Given the description of an element on the screen output the (x, y) to click on. 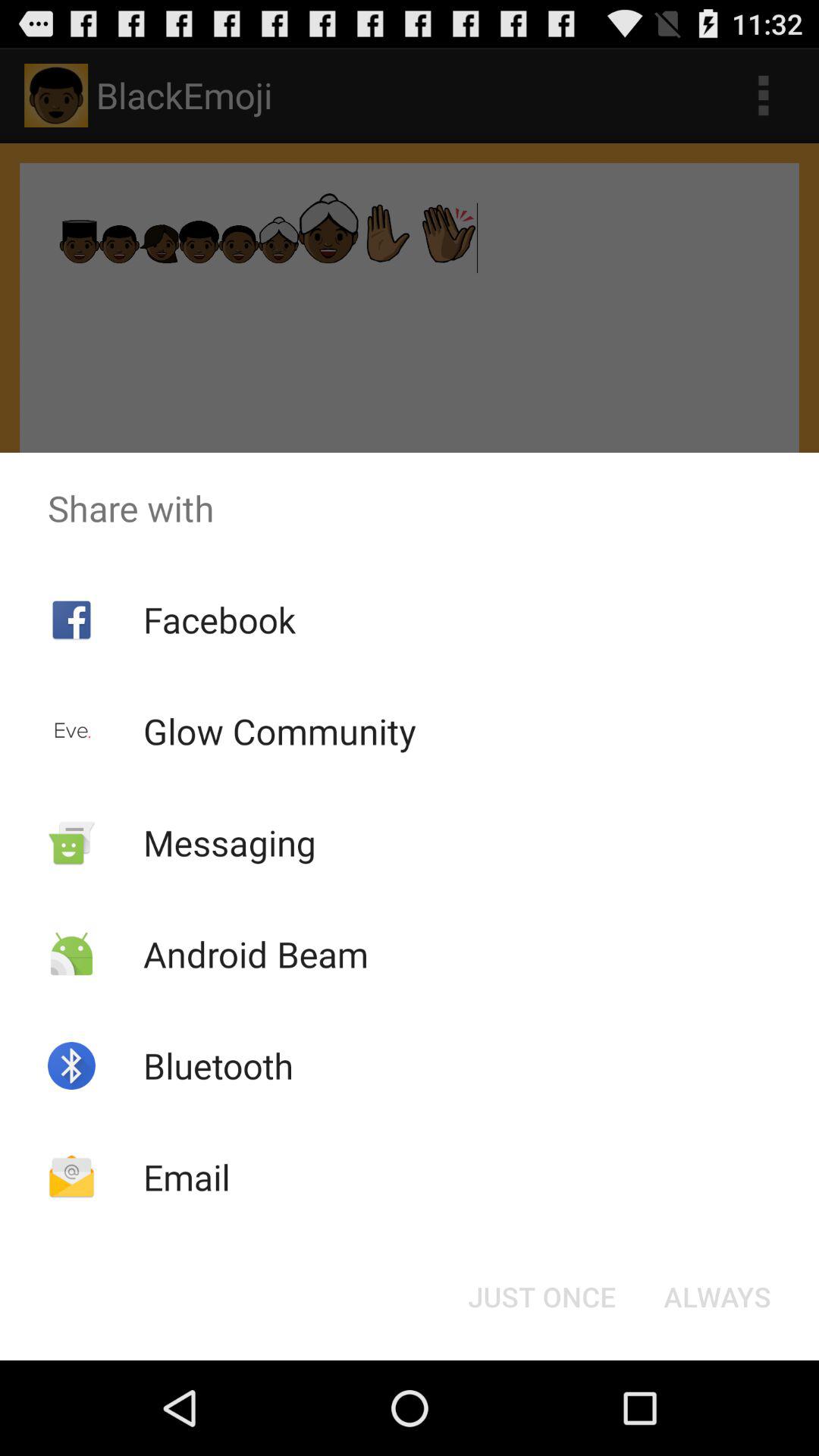
press the icon below the android beam (218, 1065)
